Given the description of an element on the screen output the (x, y) to click on. 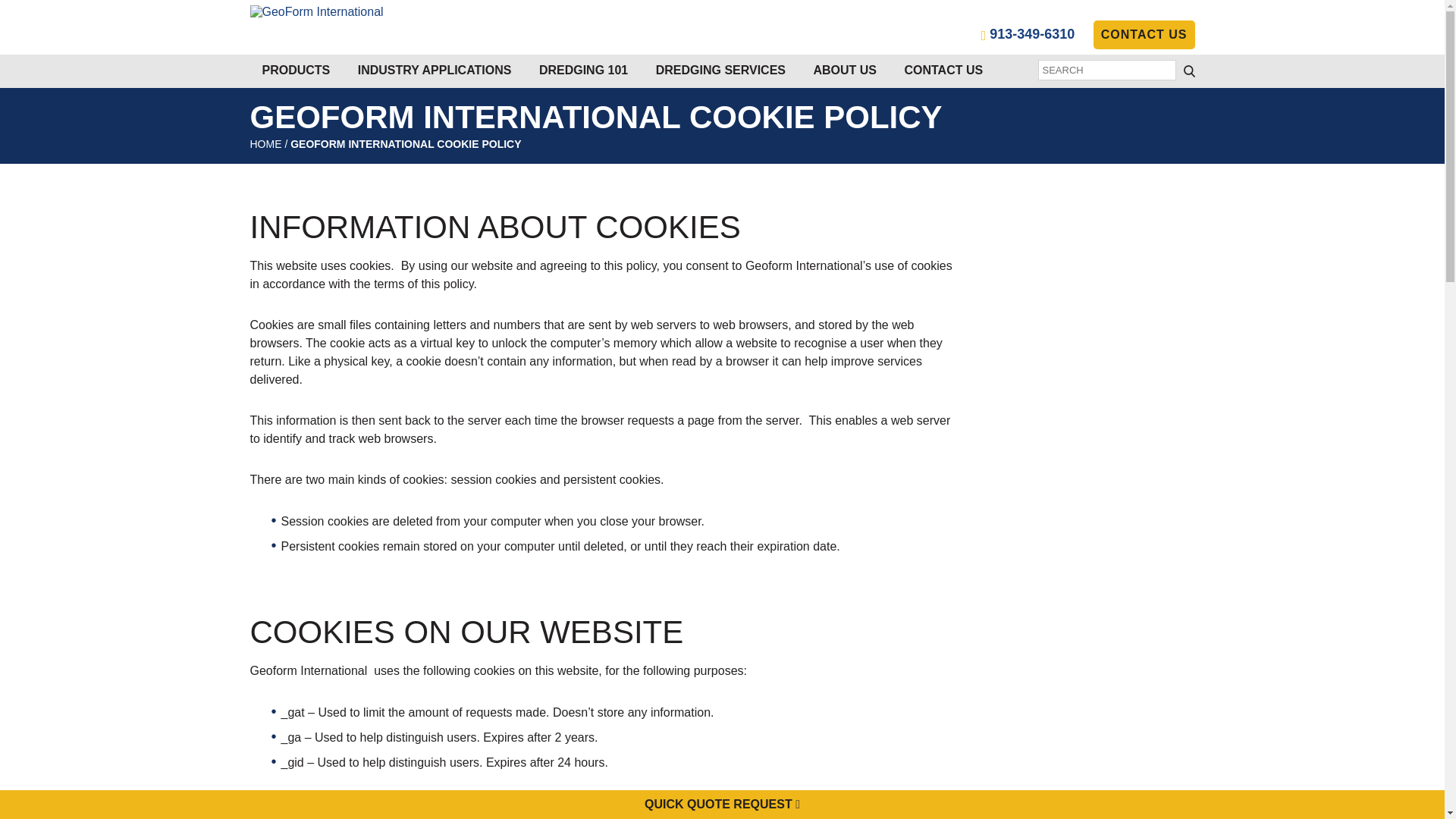
ABOUT US (844, 69)
INDUSTRY APPLICATIONS (435, 69)
913-349-6310 (1028, 33)
DREDGING SERVICES (720, 69)
DREDGING 101 (583, 69)
CONTACT US (942, 69)
CONTACT US (1144, 34)
HOME (266, 143)
PRODUCTS (296, 69)
GeoForm International (317, 11)
